Given the description of an element on the screen output the (x, y) to click on. 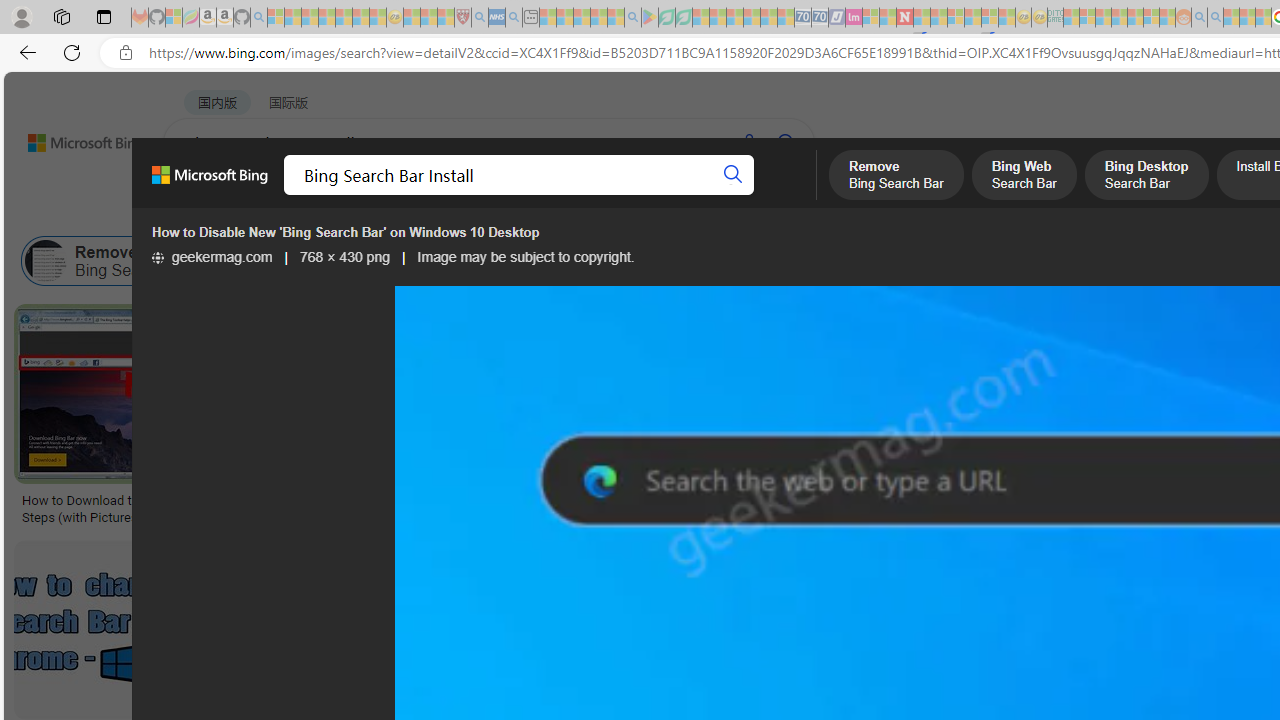
MY BING (276, 195)
Bing Web Search Bar (245, 260)
WEB (201, 195)
Image result for Bing Search Bar Install (792, 629)
Install Bing (594, 260)
Bing Desktop Search Bar (472, 260)
